Given the description of an element on the screen output the (x, y) to click on. 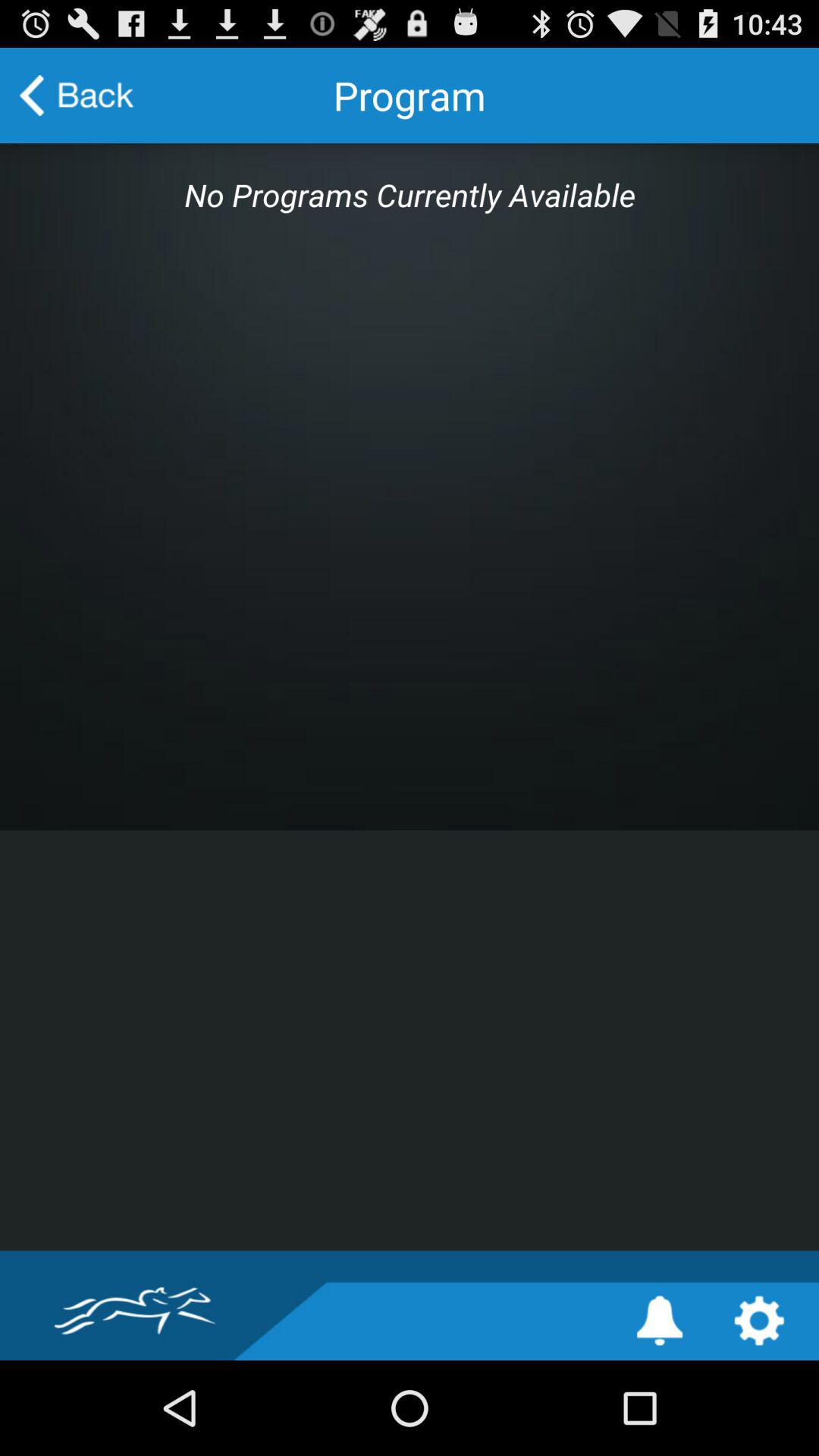
back (76, 95)
